Given the description of an element on the screen output the (x, y) to click on. 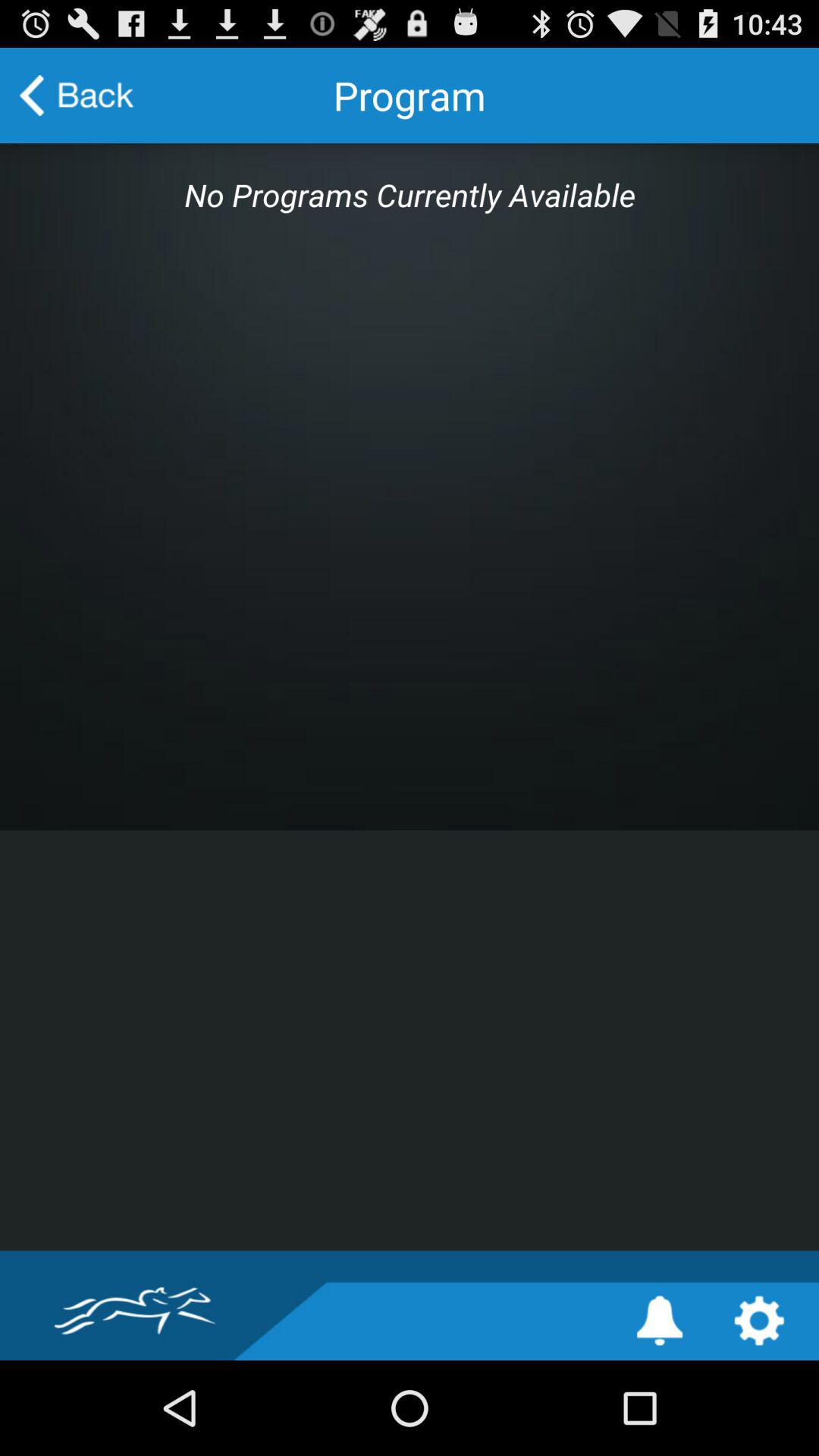
back (76, 95)
